Given the description of an element on the screen output the (x, y) to click on. 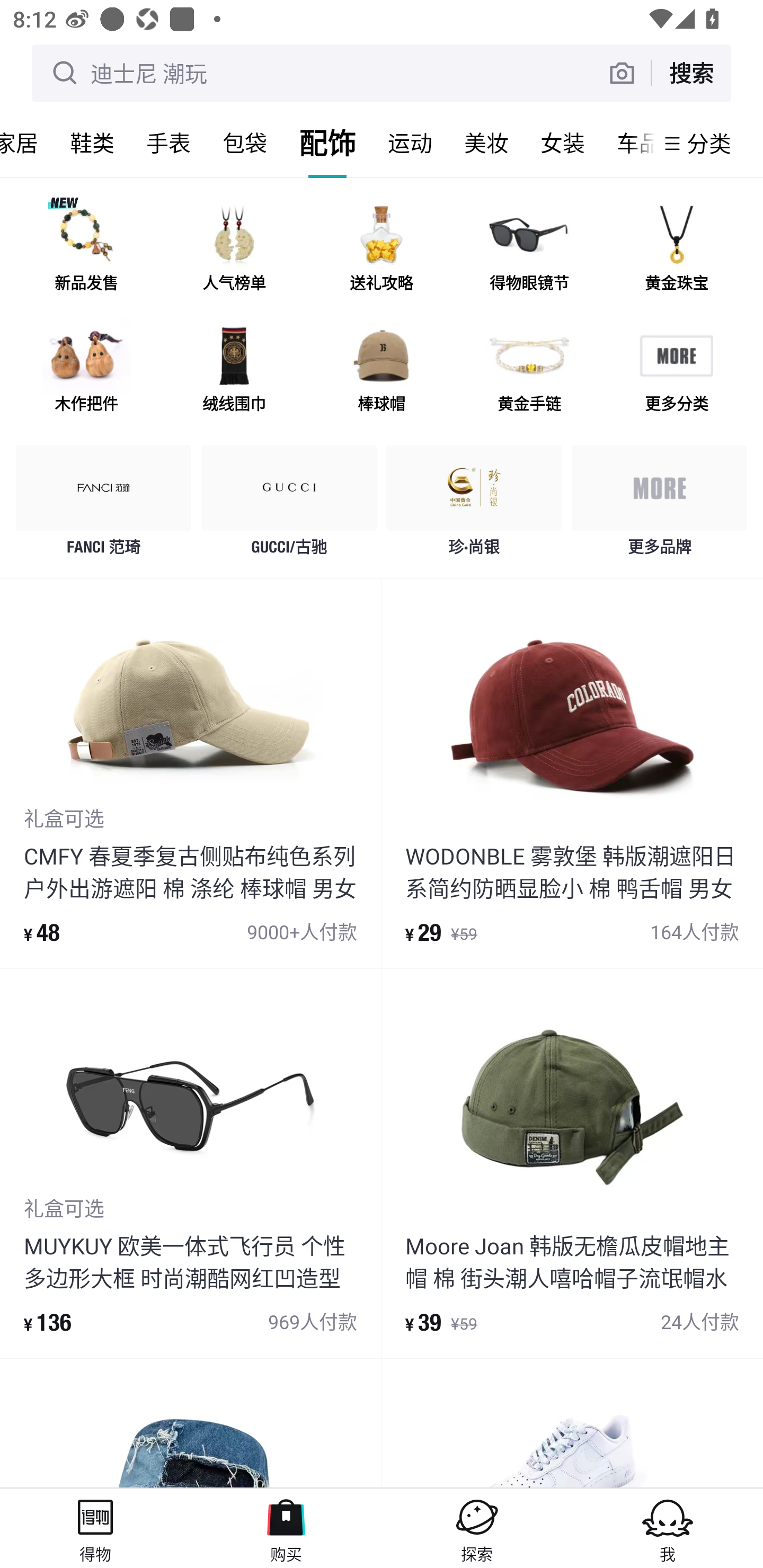
搜索 (690, 72)
家居 (27, 143)
鞋类 (92, 143)
手表 (168, 143)
包袋 (244, 143)
配饰 (327, 143)
运动 (410, 143)
美妆 (486, 143)
女装 (562, 143)
车品 (627, 143)
分类 (708, 143)
新品发售 (86, 251)
人气榜单 (233, 251)
送礼攻略 (381, 251)
得物眼镜节 (528, 251)
黄金珠宝 (676, 251)
木作把件 (86, 372)
绒线围巾 (233, 372)
棒球帽 (381, 372)
黄金手链 (528, 372)
更多分类 (676, 372)
FANCI 范琦 (103, 505)
GUCCI/古驰 (288, 505)
珍·尚银 (473, 505)
更多品牌 (658, 505)
得物 (95, 1528)
购买 (285, 1528)
探索 (476, 1528)
我 (667, 1528)
